Given the description of an element on the screen output the (x, y) to click on. 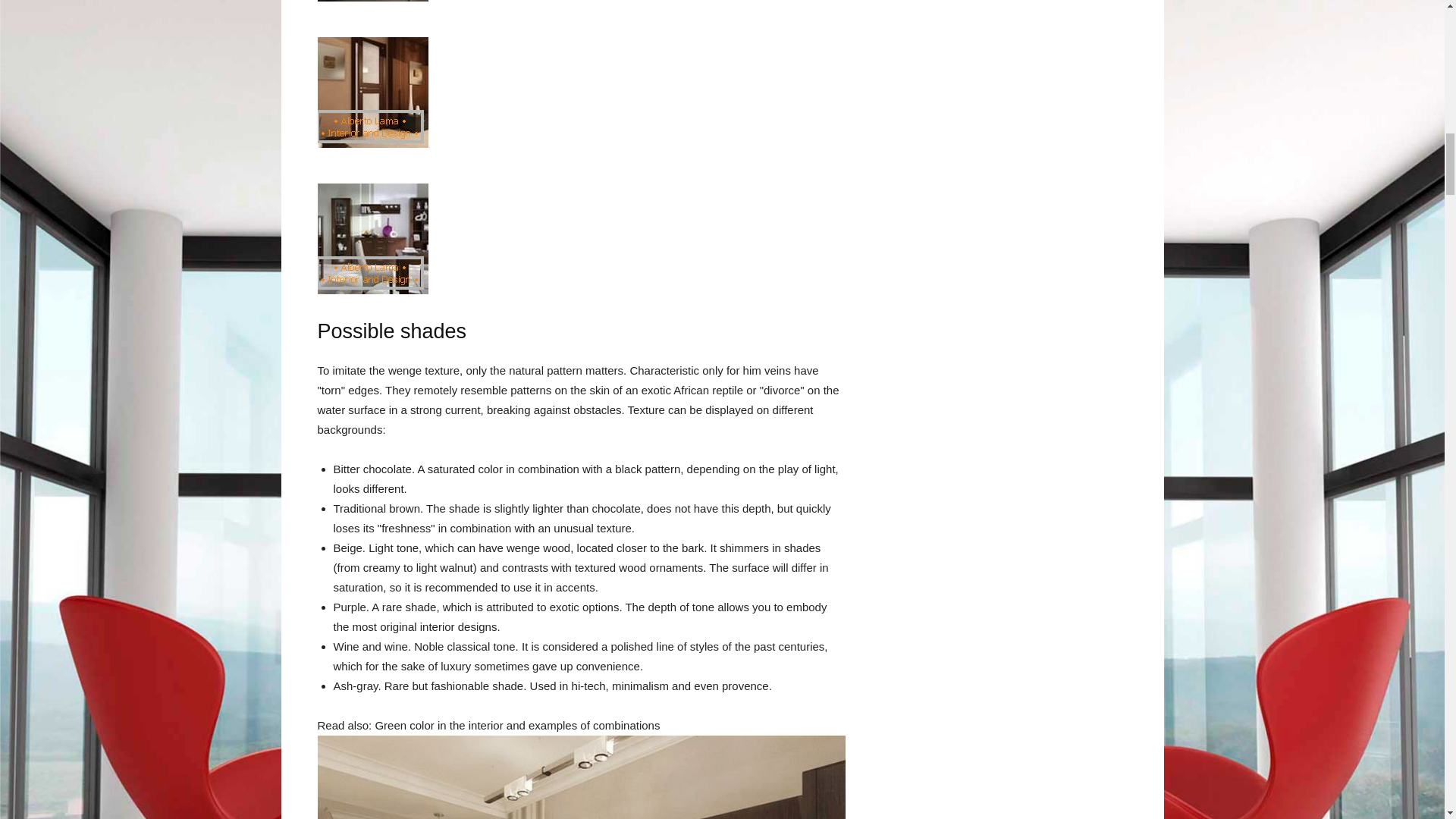
Dark shade of wenge in the interior (580, 777)
Room tree on the floor by the window (372, 92)
Chest of drawers in the corner of the bedroom (372, 0)
Dark furniture in a light interior (372, 238)
